Given the description of an element on the screen output the (x, y) to click on. 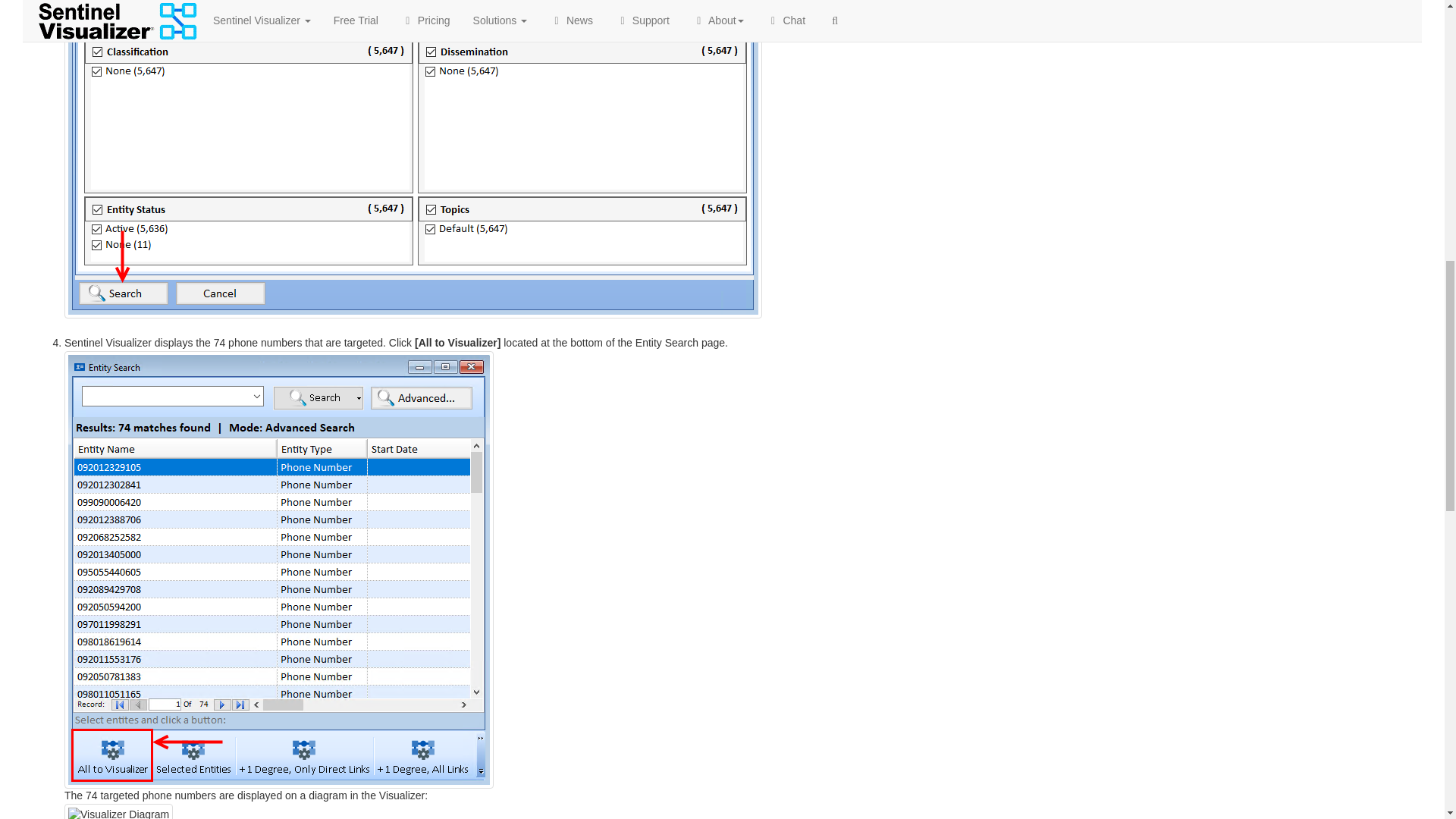
Visualizer Diagram (118, 811)
